Given the description of an element on the screen output the (x, y) to click on. 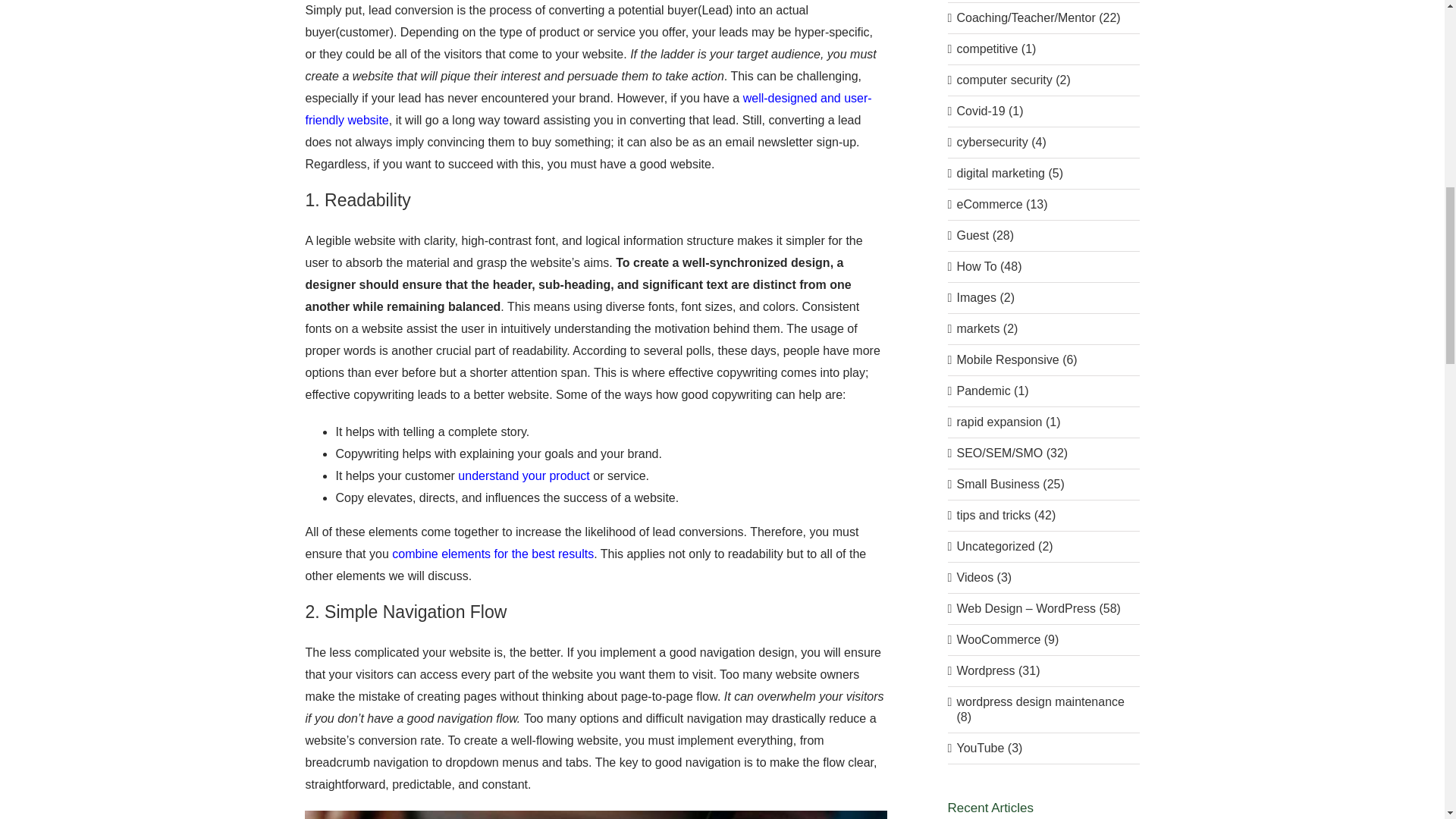
combine elements for the best results (492, 553)
well-designed and user-friendly website (587, 108)
understand your product (523, 475)
